Given the description of an element on the screen output the (x, y) to click on. 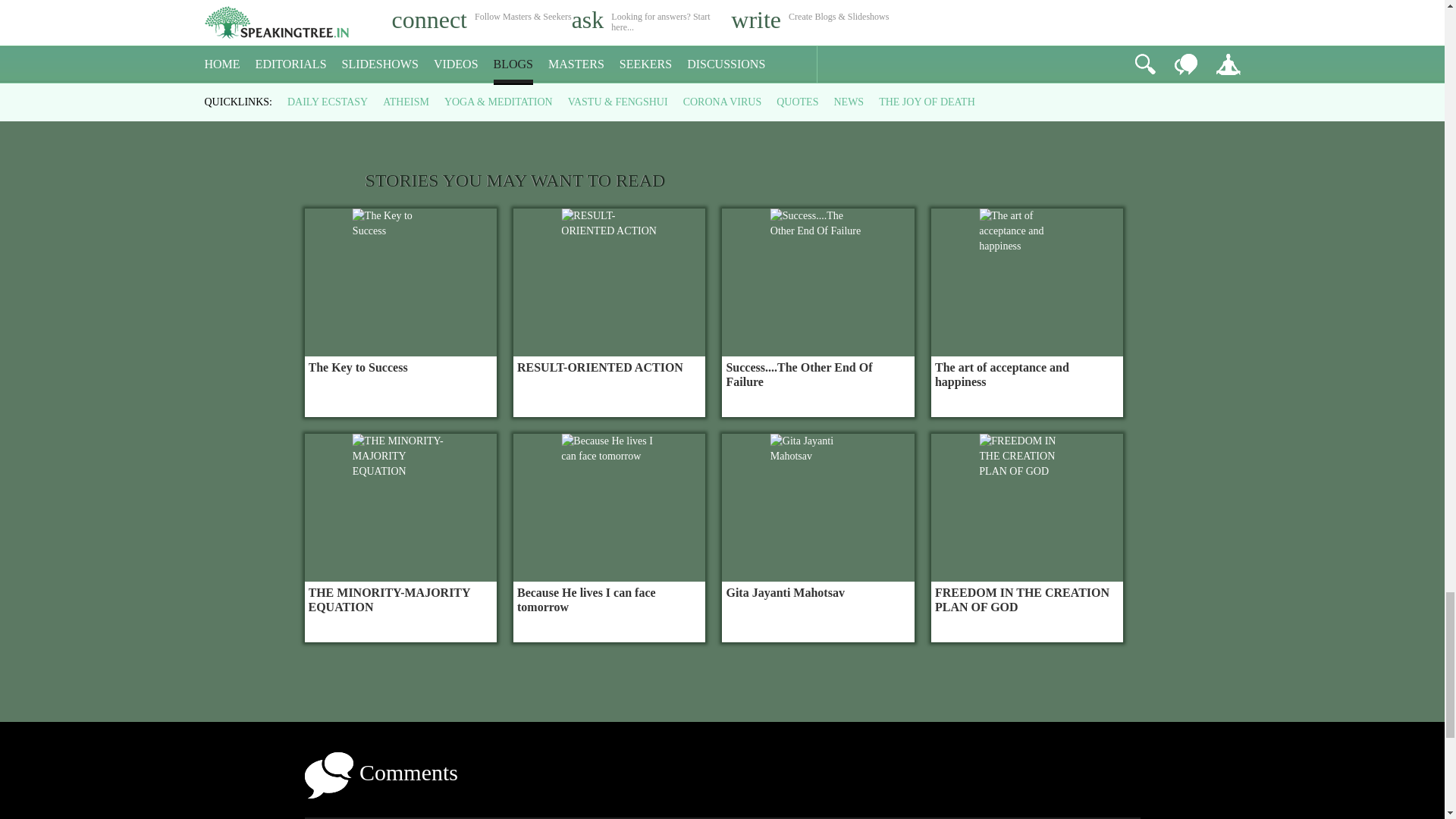
Speaking Tree FaceBook (998, 4)
Speaking Tree FaceBook (1048, 4)
Speaking Tree FaceBook (1147, 4)
Speaking Tree FaceBook (948, 4)
Speaking Tree FaceBook (1099, 4)
